Given the description of an element on the screen output the (x, y) to click on. 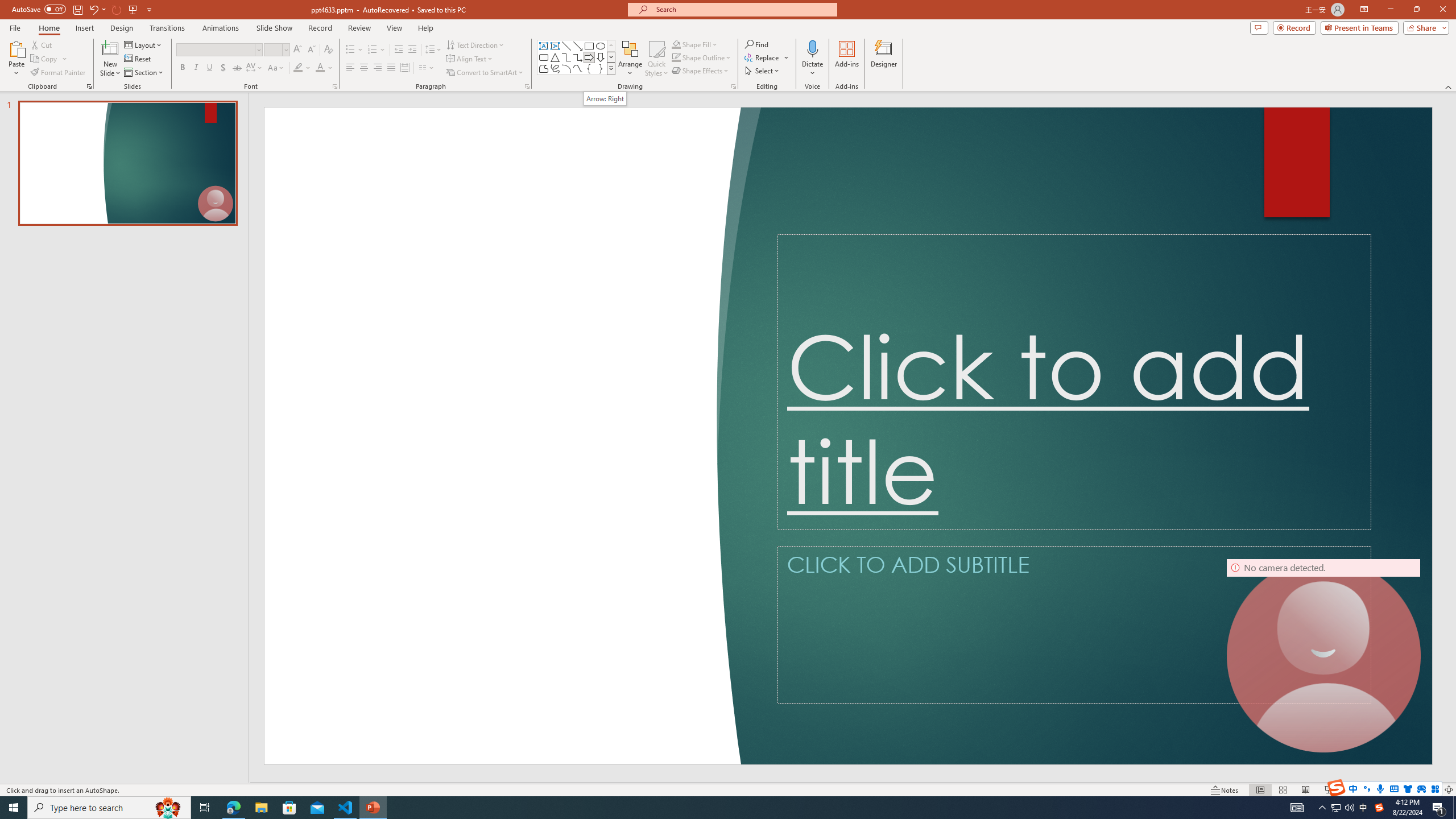
Cut (42, 44)
Decrease Indent (398, 49)
Section (144, 72)
Justify (390, 67)
